Given the description of an element on the screen output the (x, y) to click on. 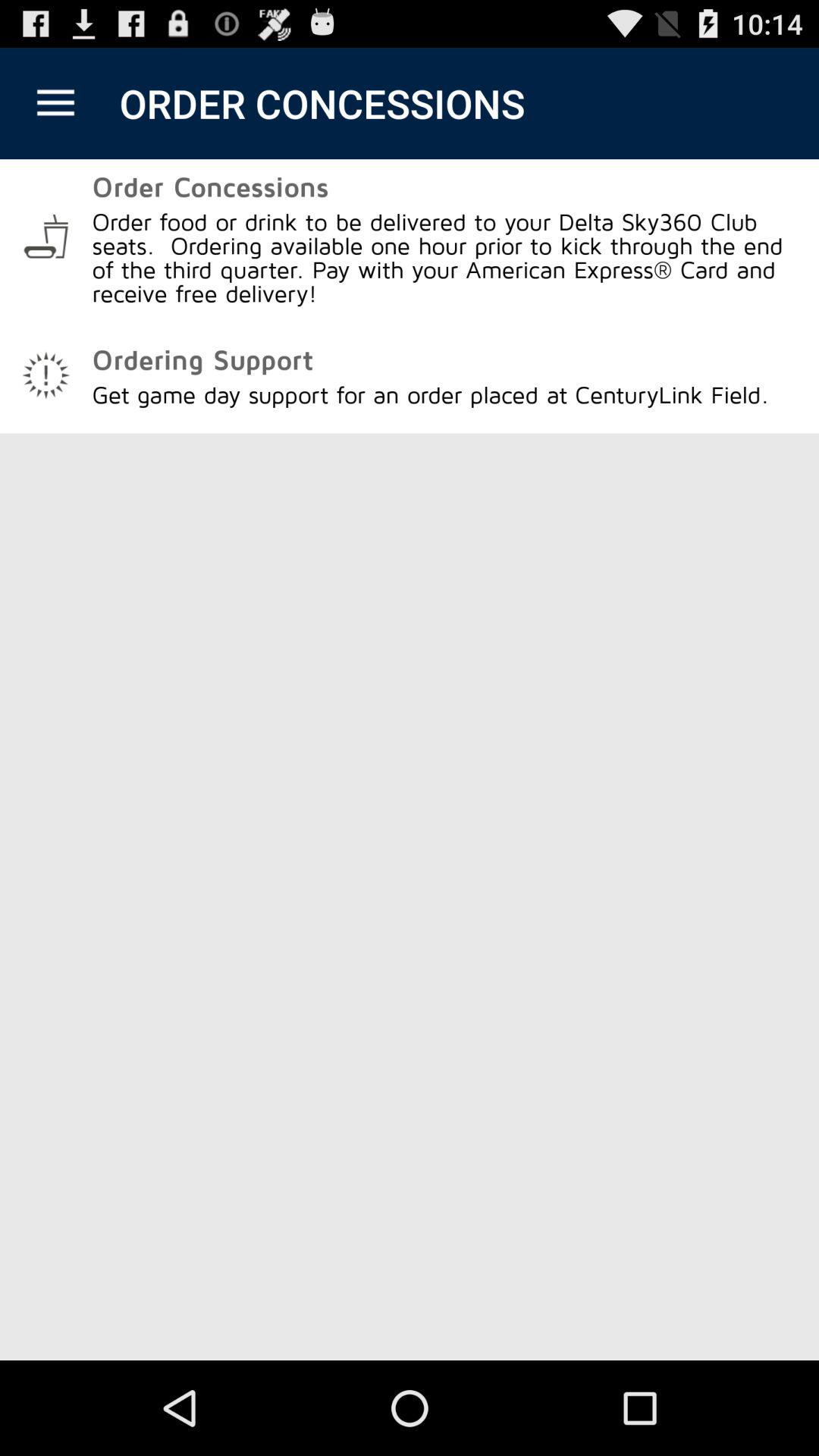
open the app to the left of the order concessions icon (55, 103)
